Given the description of an element on the screen output the (x, y) to click on. 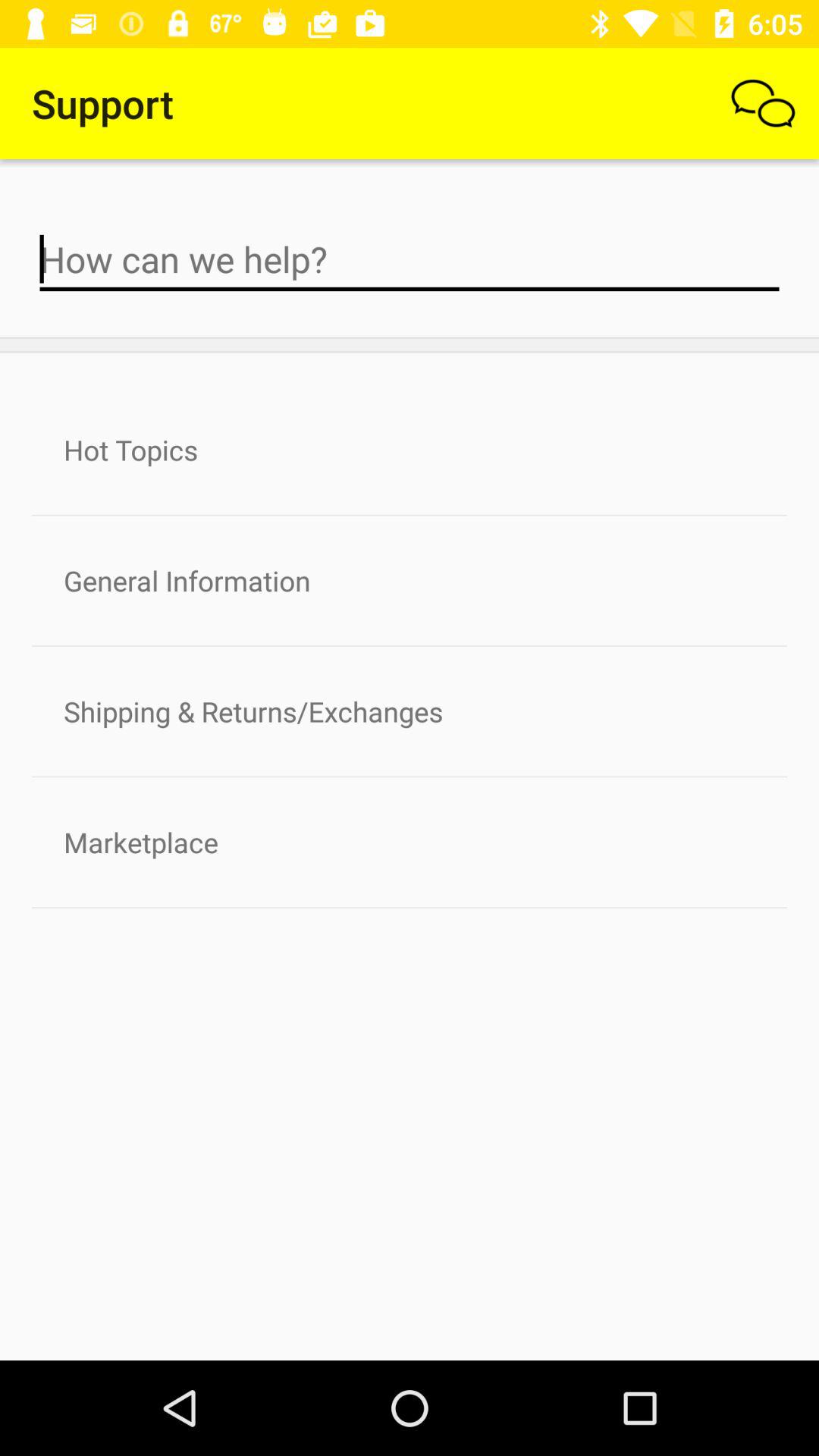
open icon below shipping & returns/exchanges icon (409, 842)
